Given the description of an element on the screen output the (x, y) to click on. 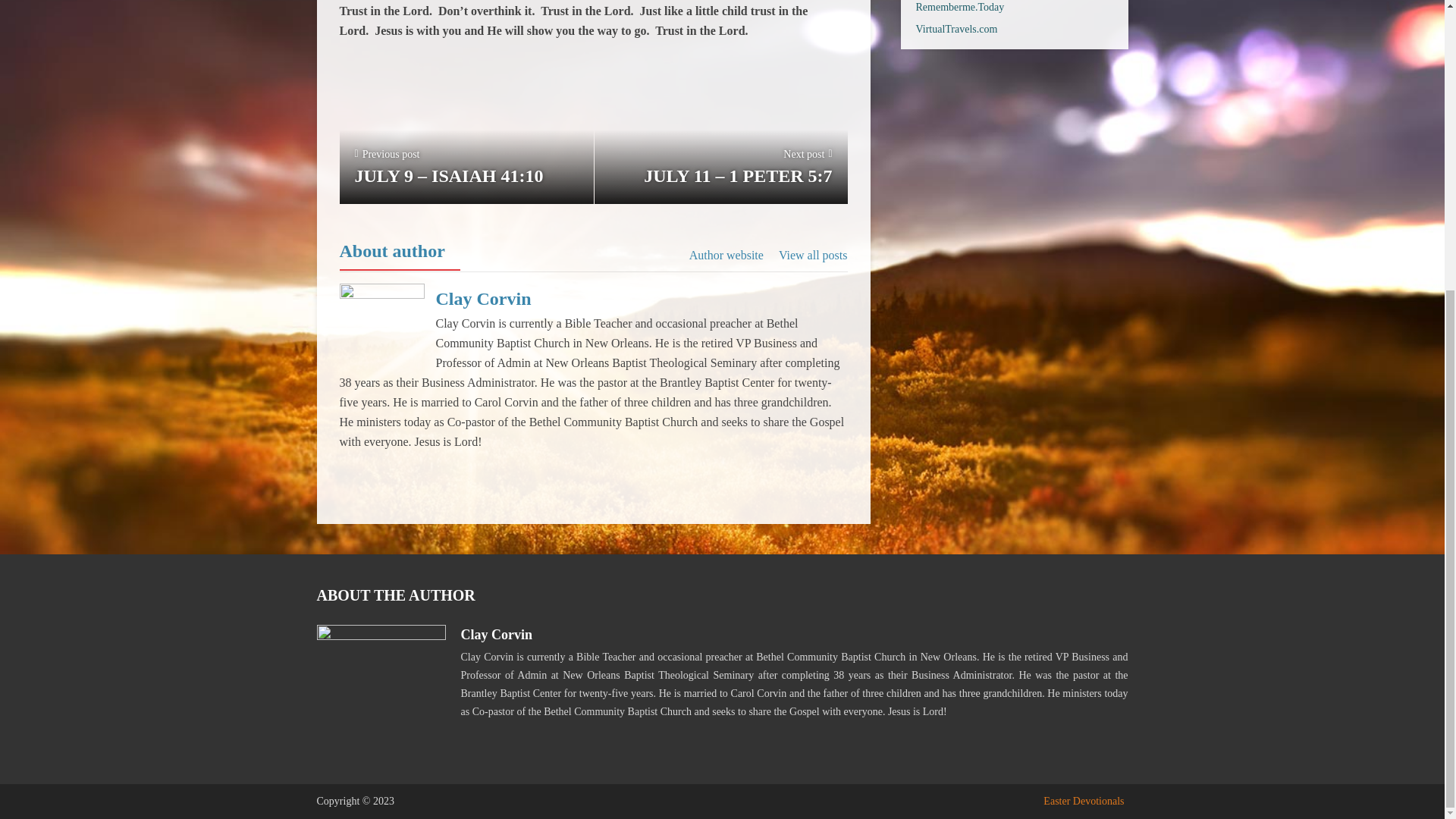
Rememberme.Today (959, 7)
Author website (725, 255)
Easter Devotionals (1083, 800)
View all posts (812, 255)
VirtualTravels.com (956, 29)
